Given the description of an element on the screen output the (x, y) to click on. 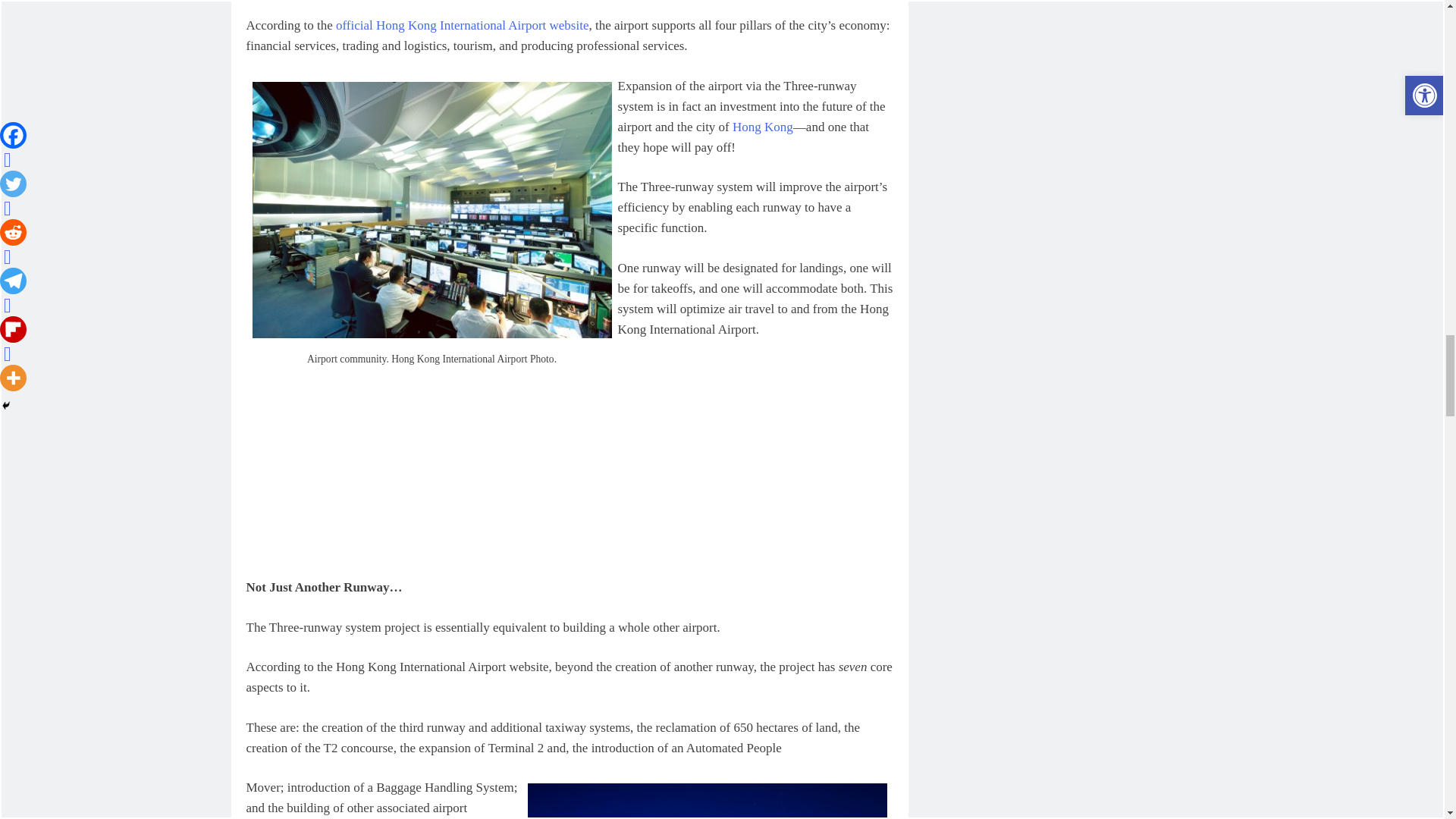
Airport community. Hong Kong International Airport Photos. (431, 210)
